Given the description of an element on the screen output the (x, y) to click on. 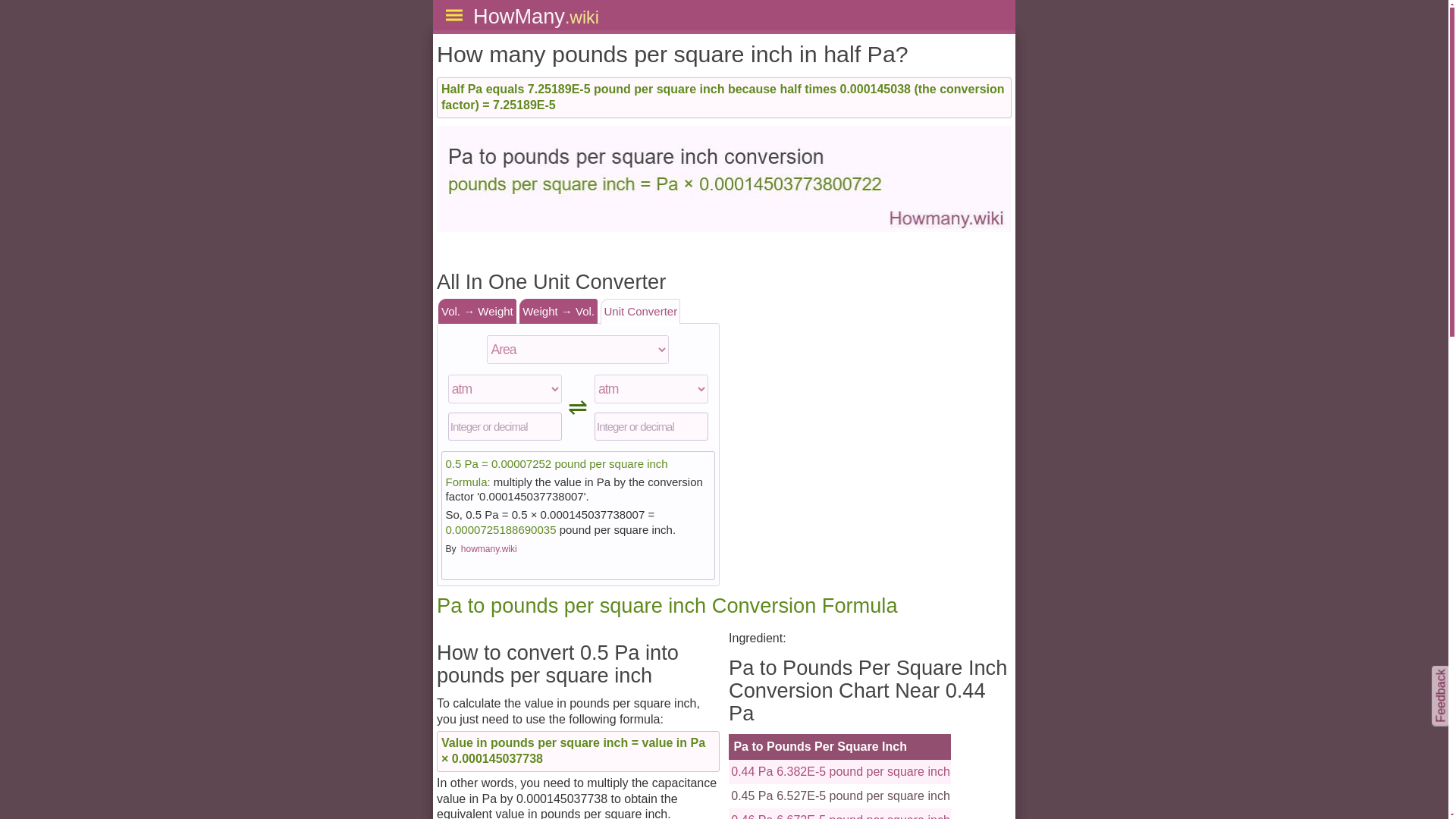
Select a physical quantity (577, 348)
HowMany.wiki (535, 15)
Quantity to (650, 426)
Quantity from (505, 426)
Menu (454, 15)
howmany.wiki (488, 548)
Select an unit (650, 388)
Advertisement (870, 366)
Unit Converter (639, 312)
Select an unit (505, 388)
Pa to pounds per square inch conversion (723, 178)
